Given the description of an element on the screen output the (x, y) to click on. 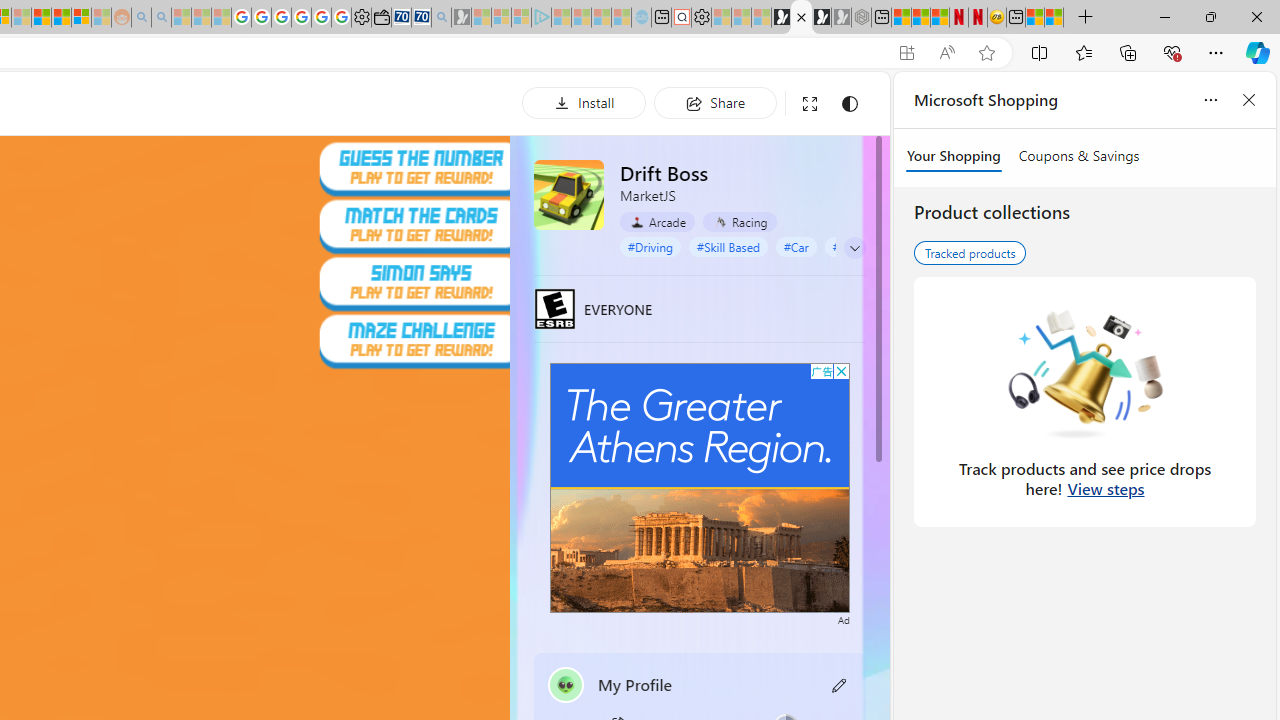
Bing Real Estate - Home sales and rental listings - Sleeping (440, 17)
Advertisement (699, 487)
AutomationID: cbb (841, 371)
Ad (843, 618)
Change to dark mode (849, 103)
EVERYONE (554, 308)
Wildlife - MSN (1035, 17)
App available. Install Drift Boss (906, 53)
Arcade (657, 222)
Class: expand-arrow neutral (854, 247)
